Given the description of an element on the screen output the (x, y) to click on. 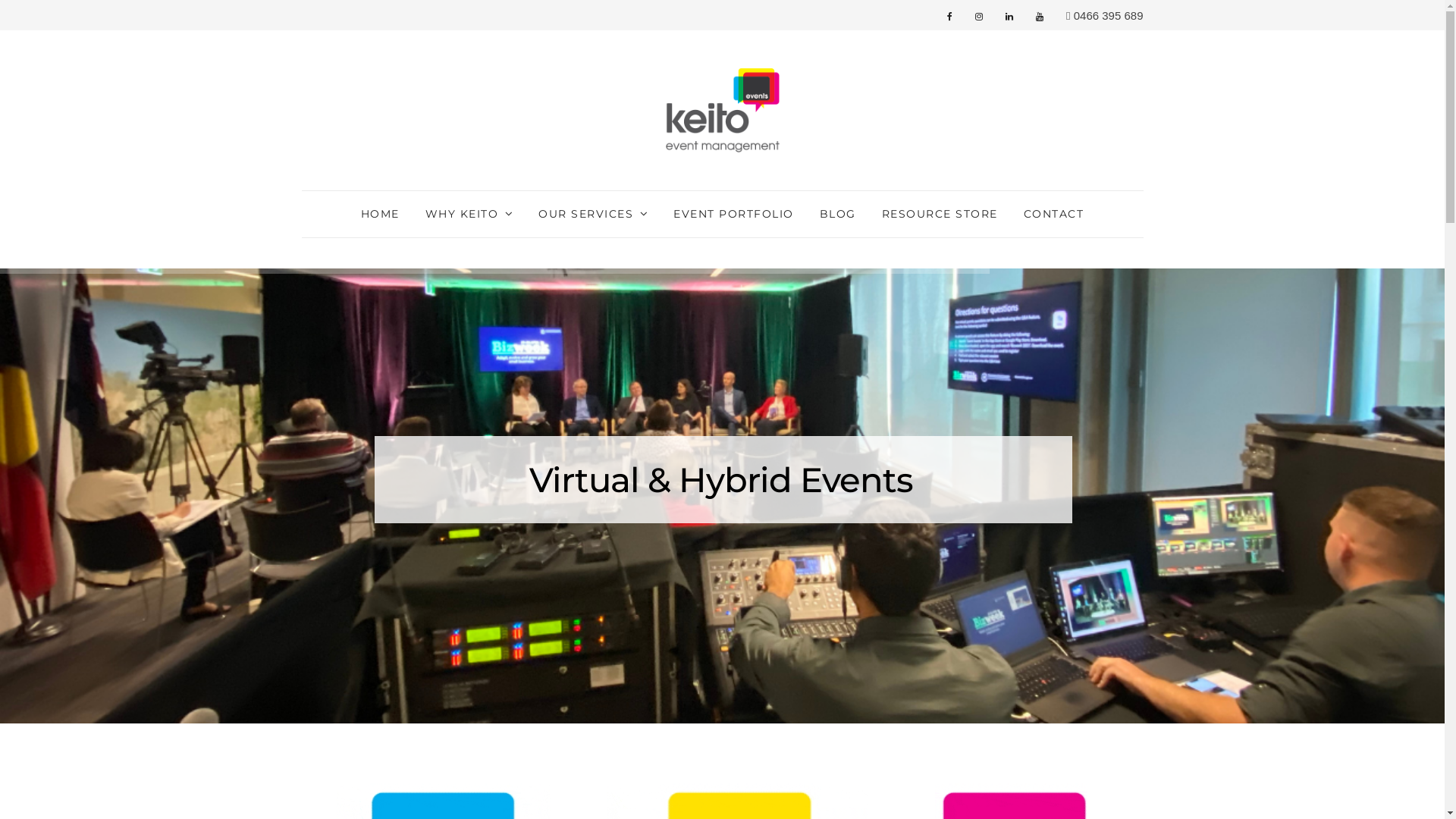
EVENT PORTFOLIO Element type: text (733, 214)
HOME Element type: text (379, 214)
OUR SERVICES Element type: text (585, 214)
CONTACT Element type: text (1053, 214)
RESOURCE STORE Element type: text (939, 214)
WHY KEITO Element type: text (461, 214)
BLOG Element type: text (837, 214)
